Given the description of an element on the screen output the (x, y) to click on. 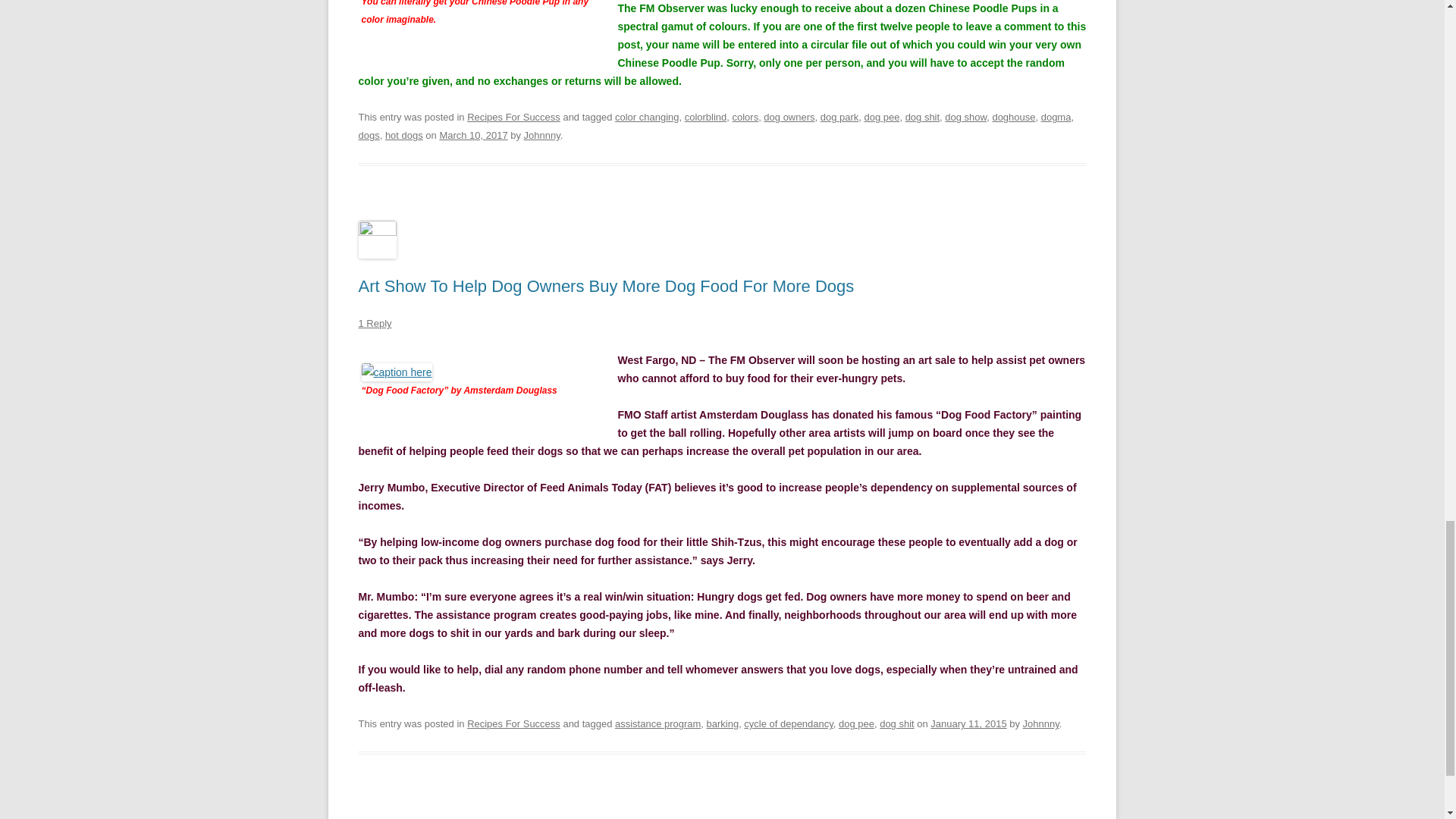
View all posts by Johnnny (542, 134)
View all posts by Johnnny (1041, 723)
10:14 AM (968, 723)
6:57 AM (472, 134)
